Given the description of an element on the screen output the (x, y) to click on. 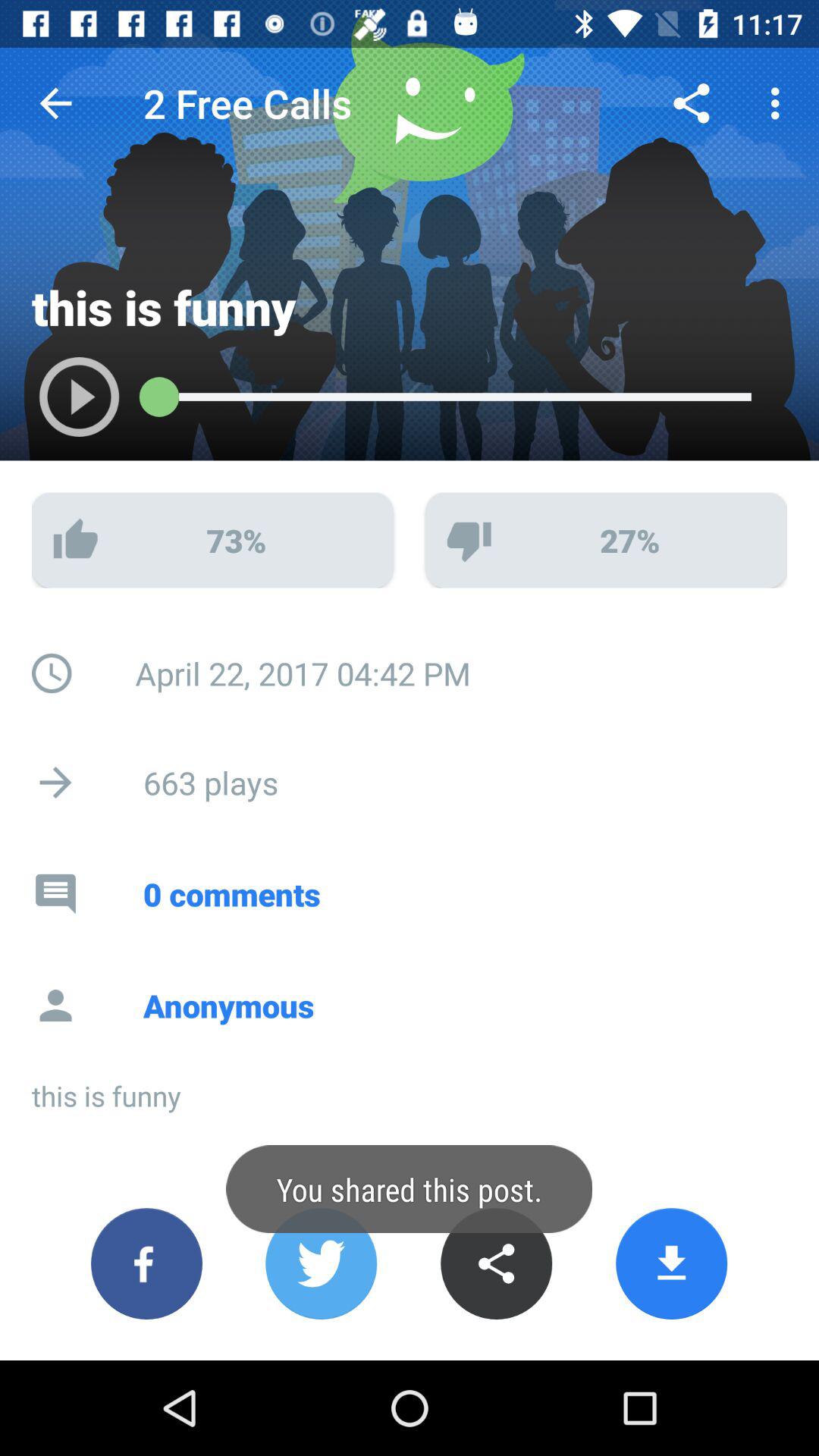
download (671, 1263)
